Given the description of an element on the screen output the (x, y) to click on. 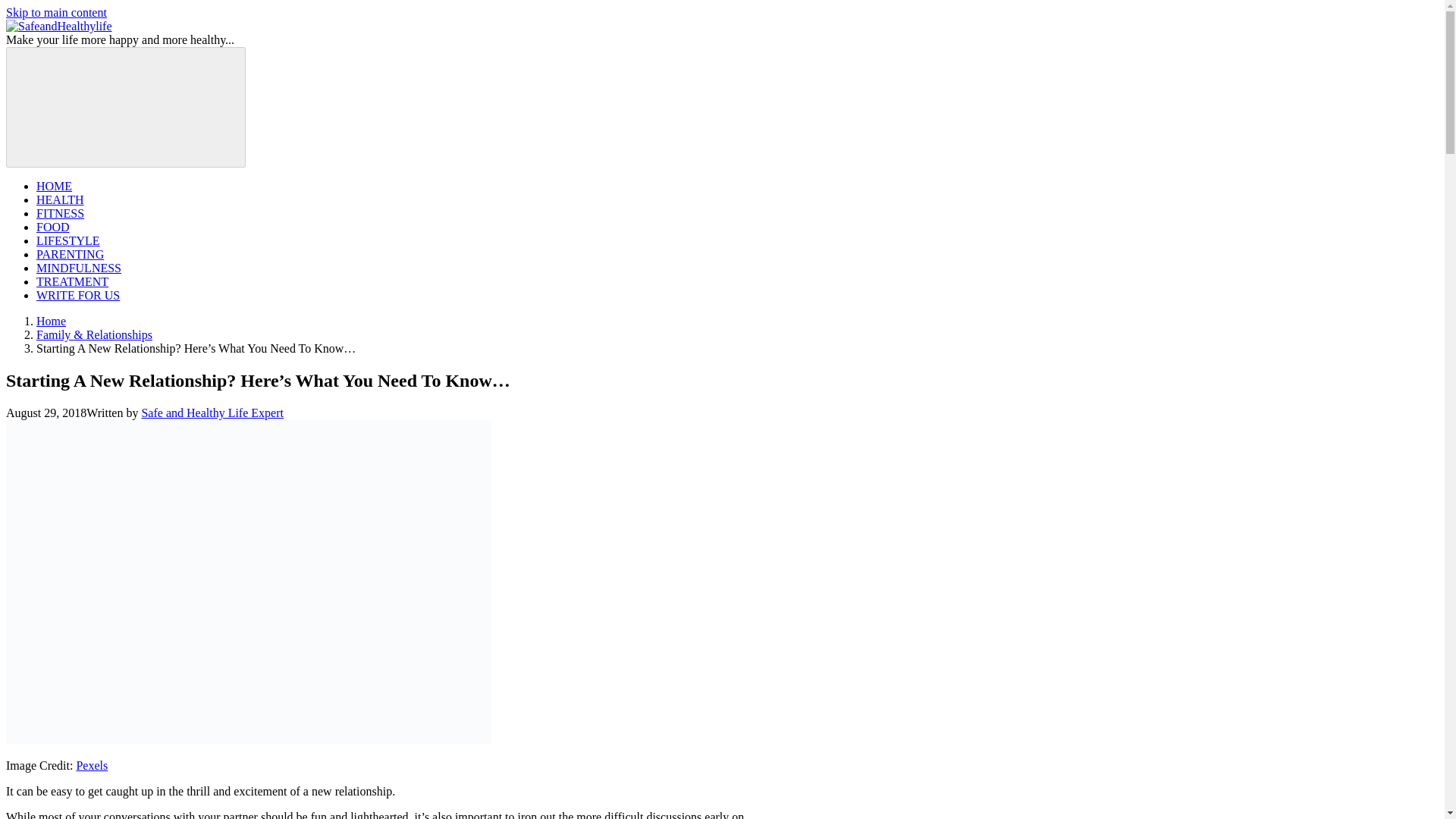
View all posts by Safe and Healthy Life Expert (211, 412)
HOME (53, 185)
TREATMENT (71, 281)
LIFESTYLE (68, 240)
PARENTING (69, 254)
MINDFULNESS (78, 267)
Skip to main content (55, 11)
WRITE FOR US (77, 295)
HEALTH (60, 199)
Pexels (91, 765)
Home (50, 320)
FITNESS (60, 213)
Safe and Healthy Life Expert (211, 412)
FOOD (52, 226)
